Given the description of an element on the screen output the (x, y) to click on. 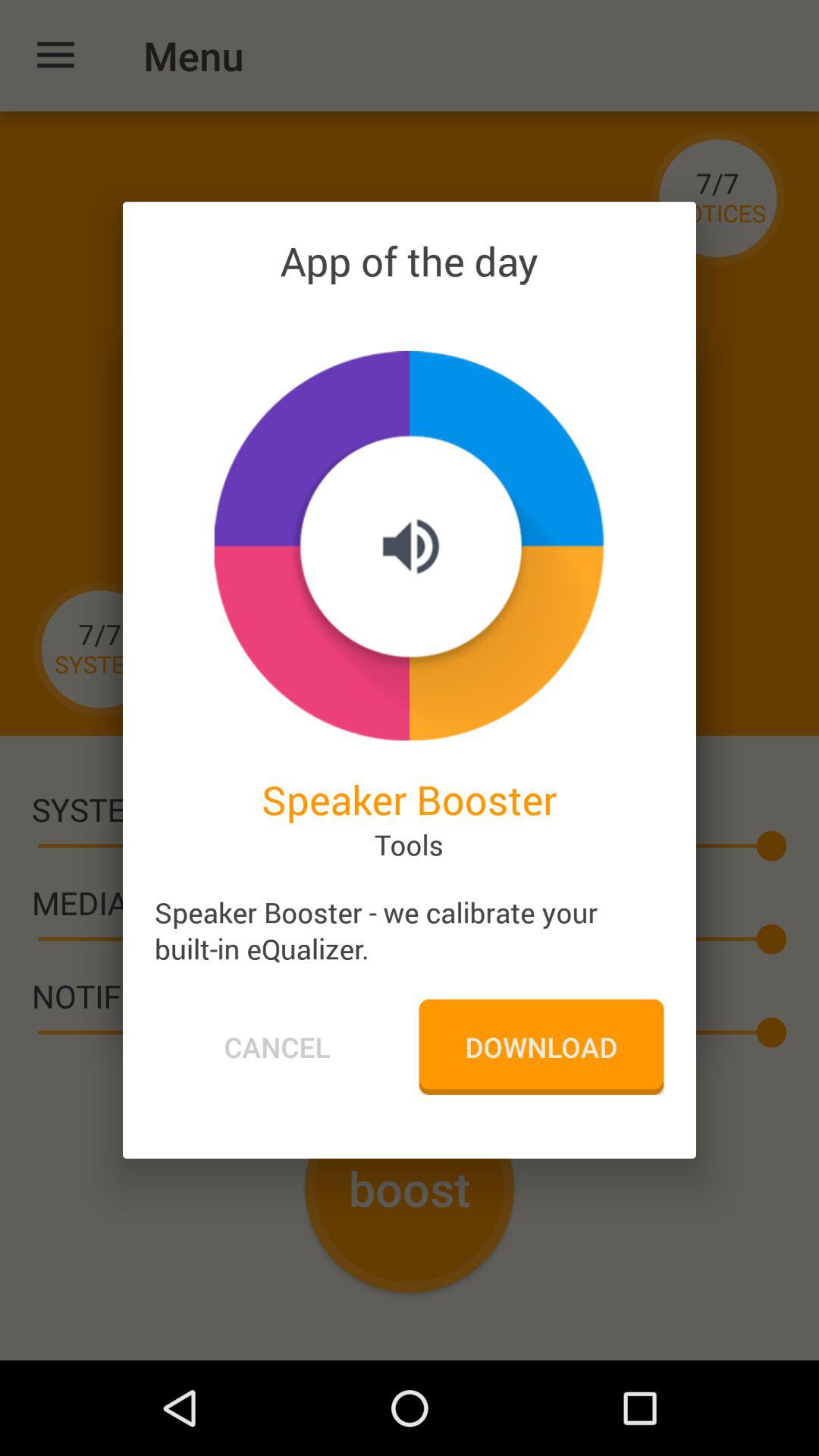
open the item below speaker booster we (276, 1046)
